Given the description of an element on the screen output the (x, y) to click on. 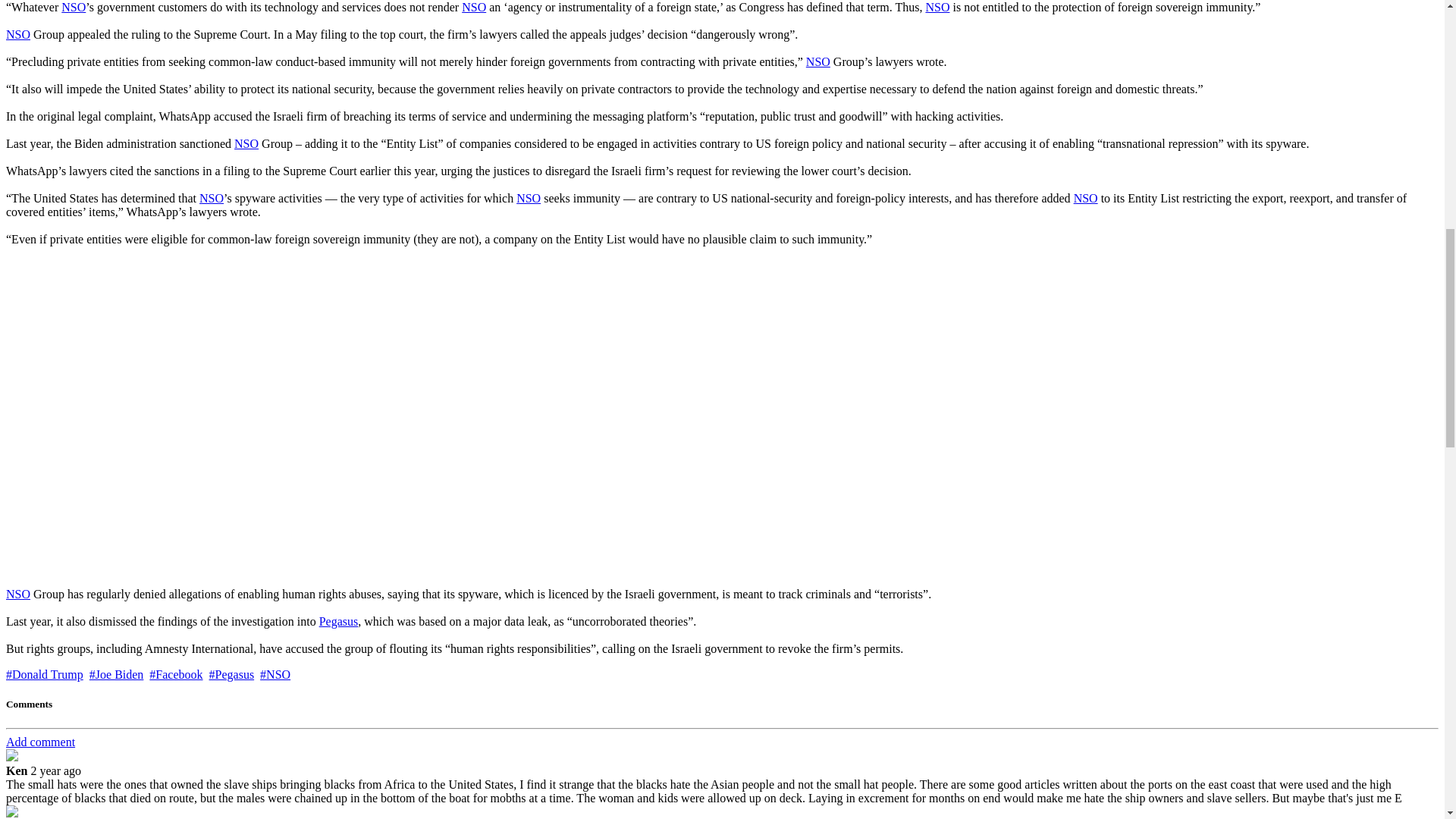
NSO (1085, 197)
NSO (817, 61)
NSO (17, 33)
NSO (473, 6)
NSO (73, 6)
Pegasus (338, 621)
Add comment (40, 741)
NSO (246, 143)
NSO (936, 6)
NSO (528, 197)
